Given the description of an element on the screen output the (x, y) to click on. 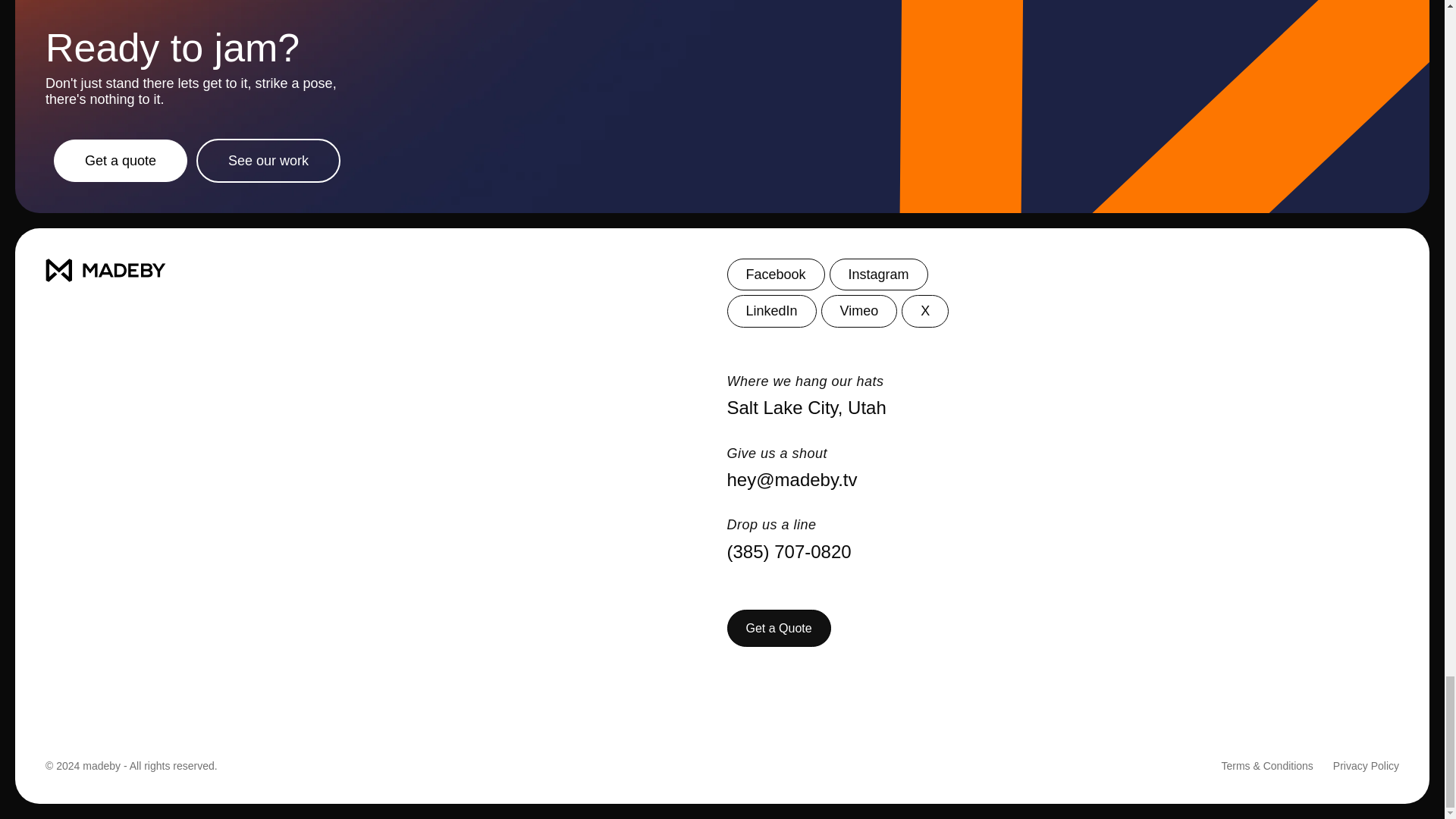
Privacy Policy (1366, 766)
Get a quote (120, 160)
Salt Lake City, Utah (1062, 407)
LinkedIn (770, 310)
Vimeo (859, 310)
Get a Quote (777, 628)
See our work (268, 160)
Facebook (775, 274)
X (925, 310)
Instagram (878, 274)
